Given the description of an element on the screen output the (x, y) to click on. 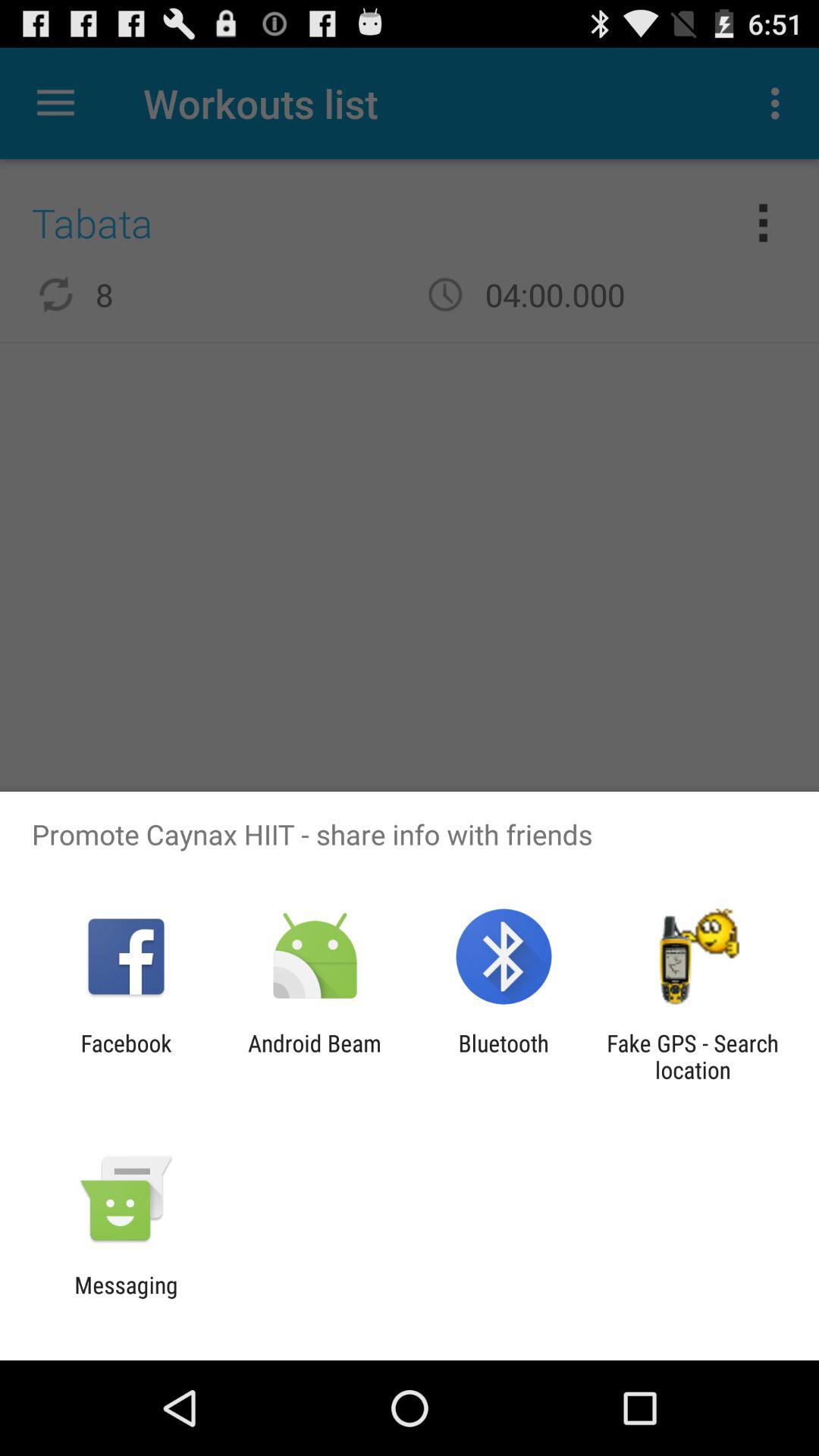
turn on bluetooth icon (503, 1056)
